Given the description of an element on the screen output the (x, y) to click on. 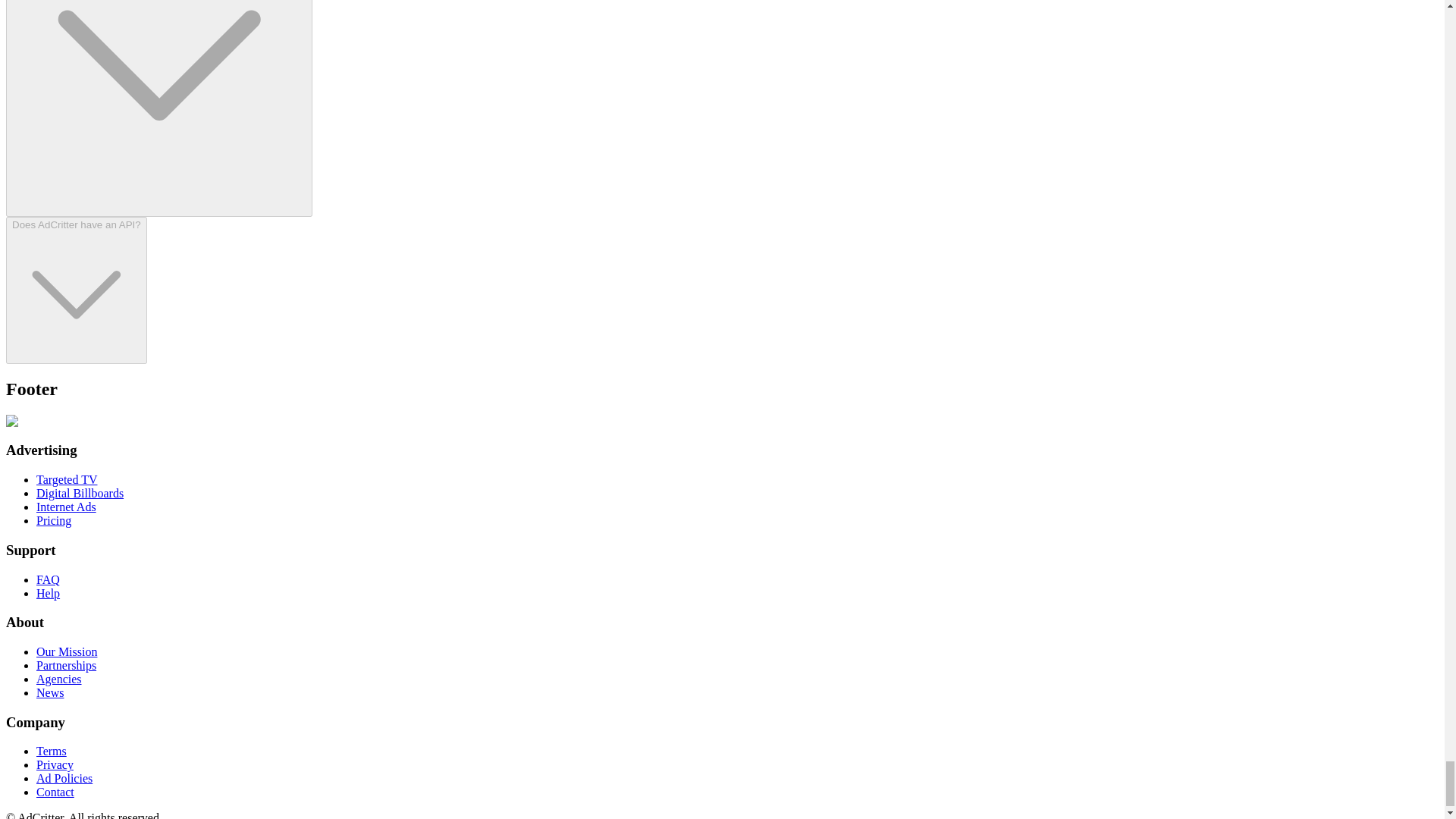
Agencies (58, 678)
Targeted TV (66, 479)
FAQ (47, 579)
Internet Ads (66, 506)
Partnerships (66, 665)
Digital Billboards (79, 492)
Help (47, 593)
Our Mission (66, 651)
Pricing (53, 520)
Does AdCritter have an API? (76, 290)
